Given the description of an element on the screen output the (x, y) to click on. 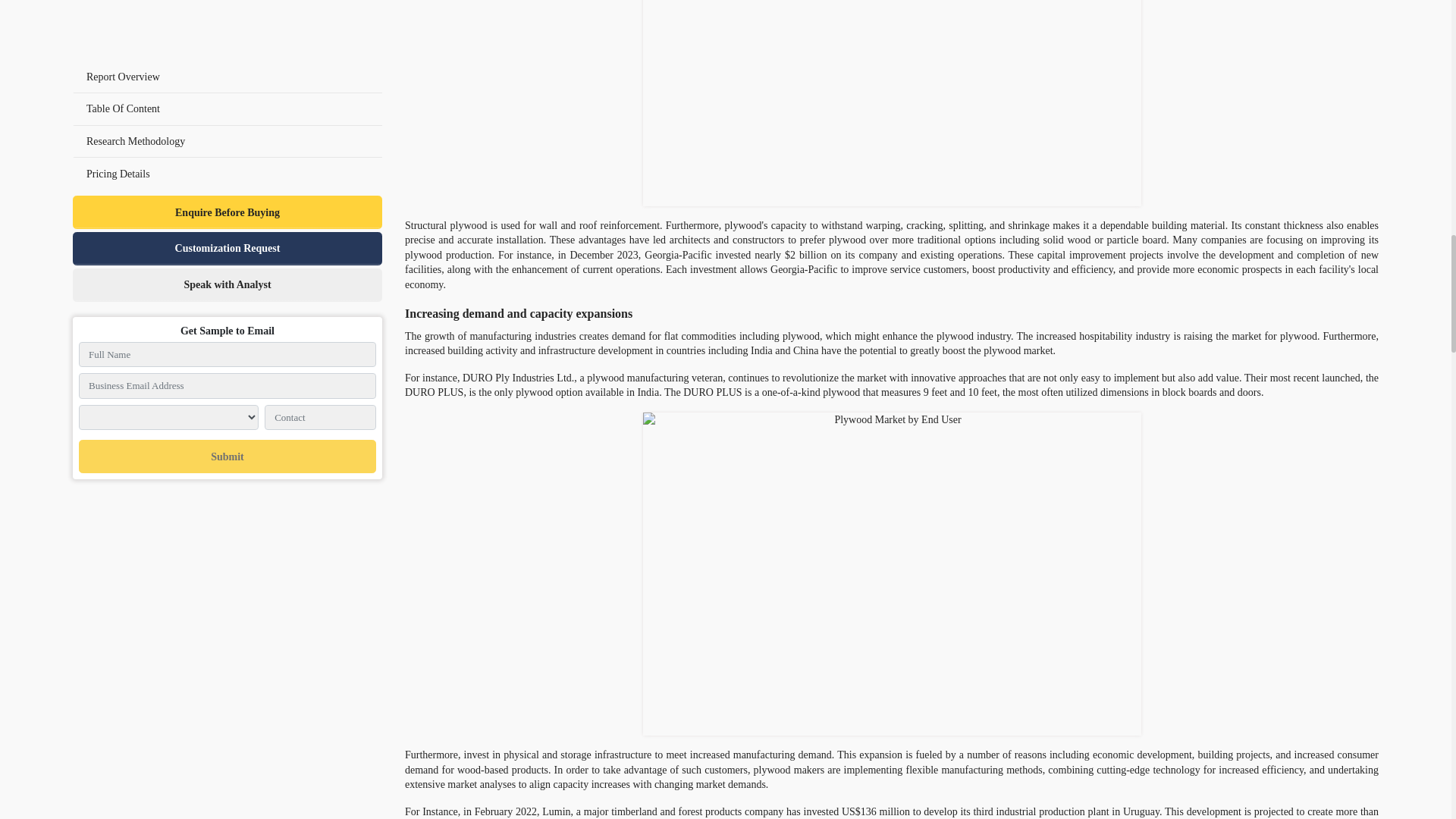
Plywood Market by Application (892, 103)
